Given the description of an element on the screen output the (x, y) to click on. 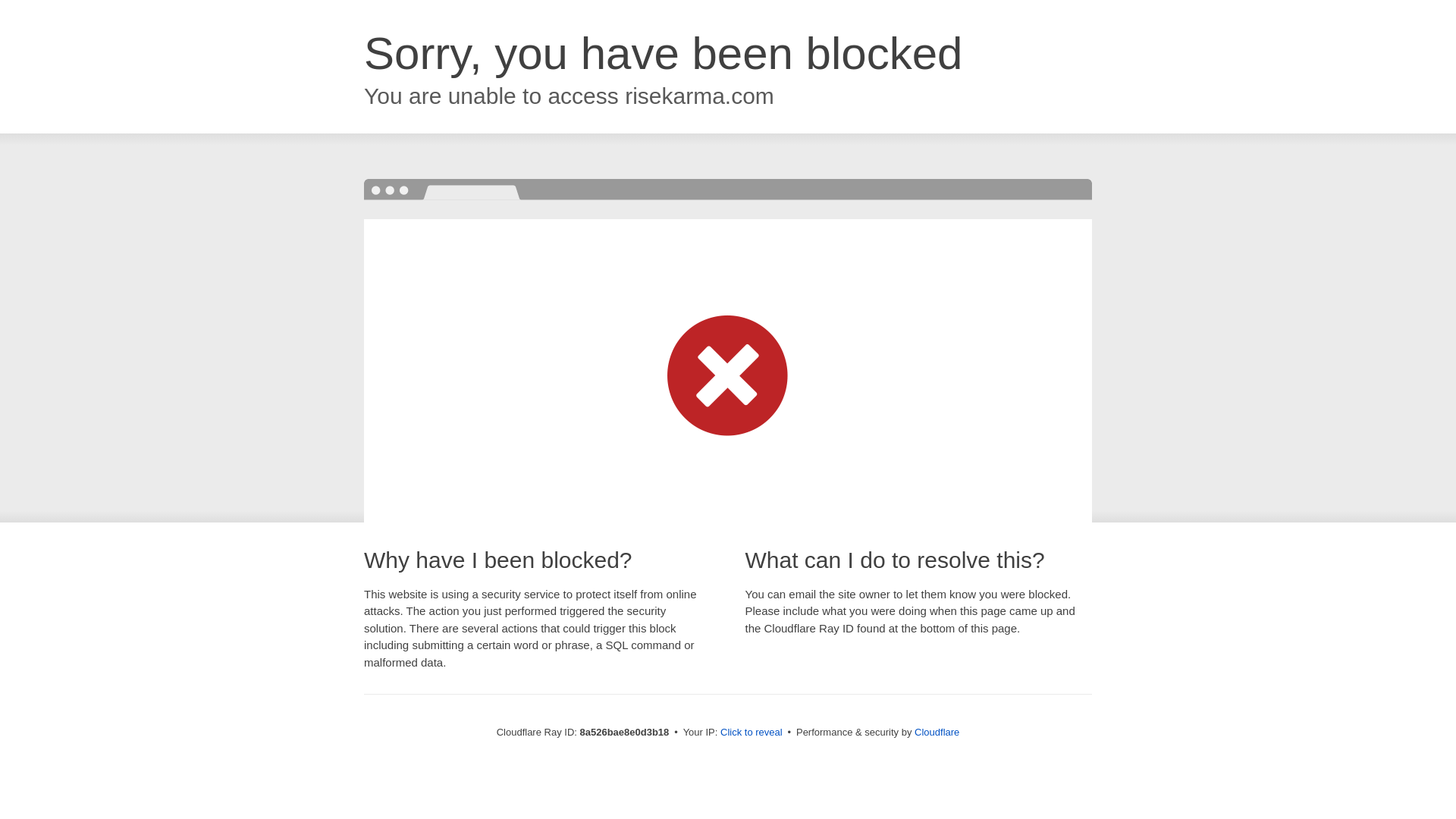
Cloudflare (936, 731)
Click to reveal (751, 732)
